Given the description of an element on the screen output the (x, y) to click on. 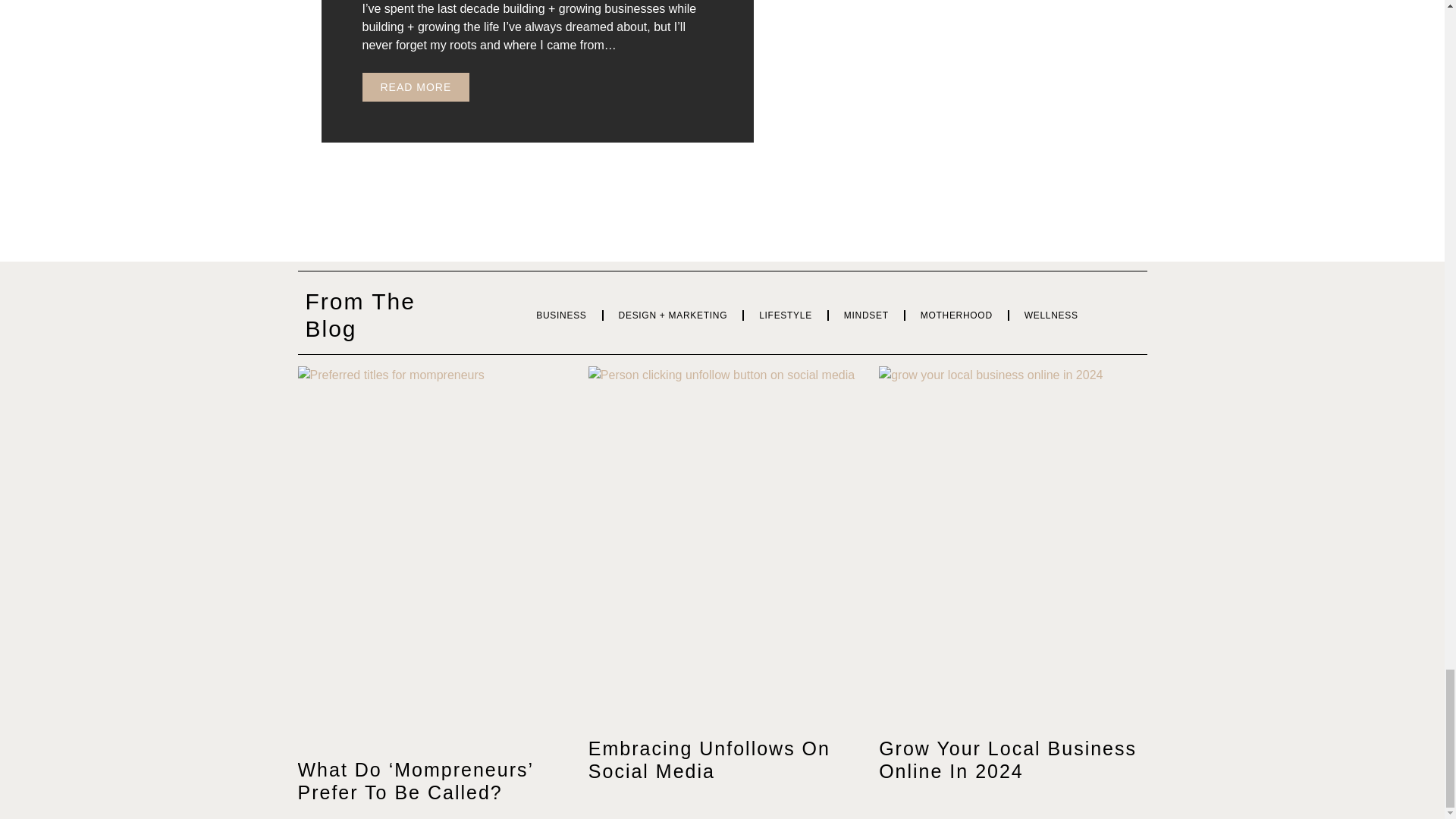
READ MORE (416, 86)
WELLNESS (1051, 315)
MOTHERHOOD (956, 315)
BUSINESS (561, 315)
MINDSET (866, 315)
LIFESTYLE (785, 315)
